Given the description of an element on the screen output the (x, y) to click on. 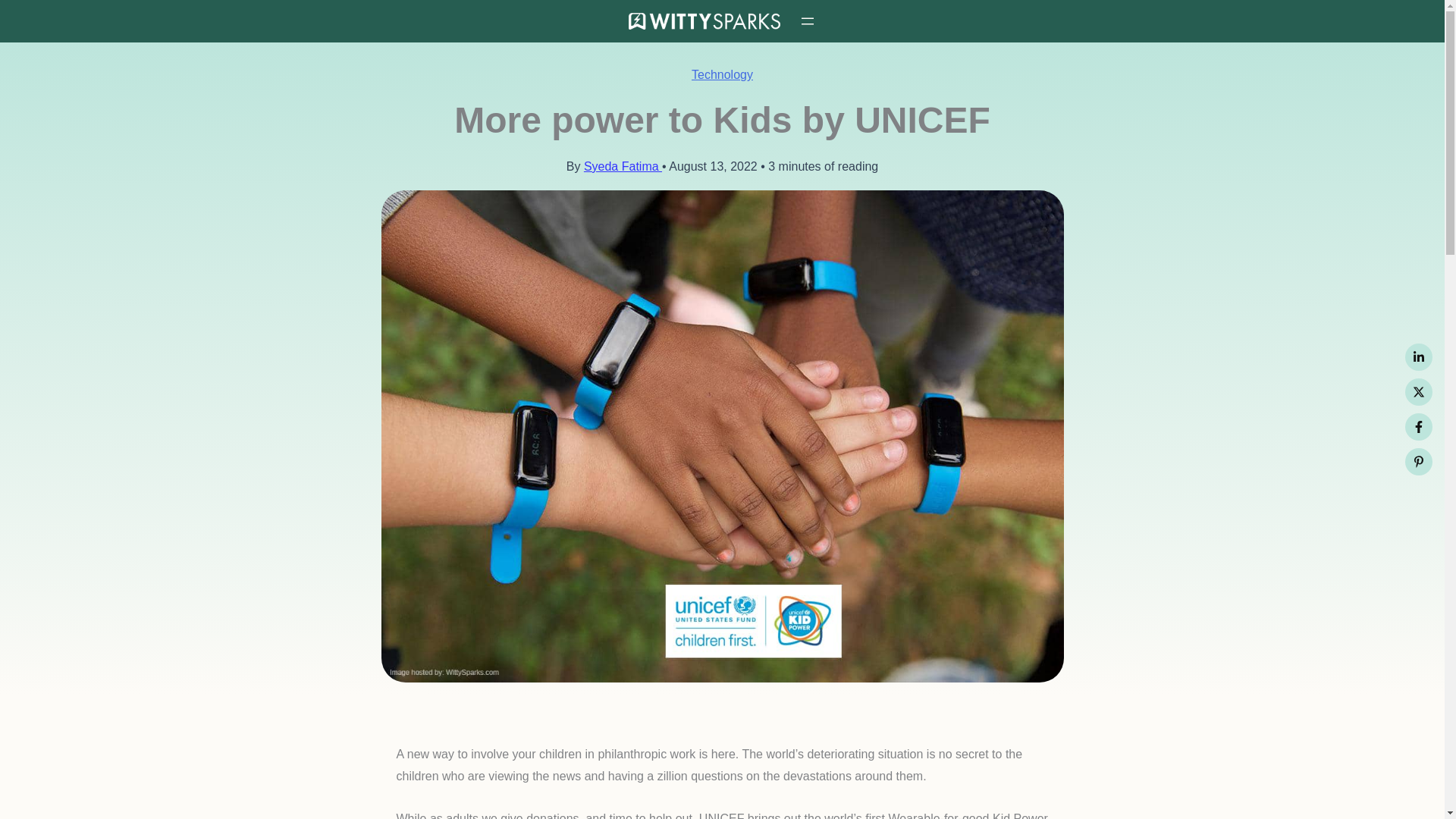
Technology (721, 74)
View all posts by Syeda Fatima (622, 165)
Syeda Fatima (622, 165)
